Given the description of an element on the screen output the (x, y) to click on. 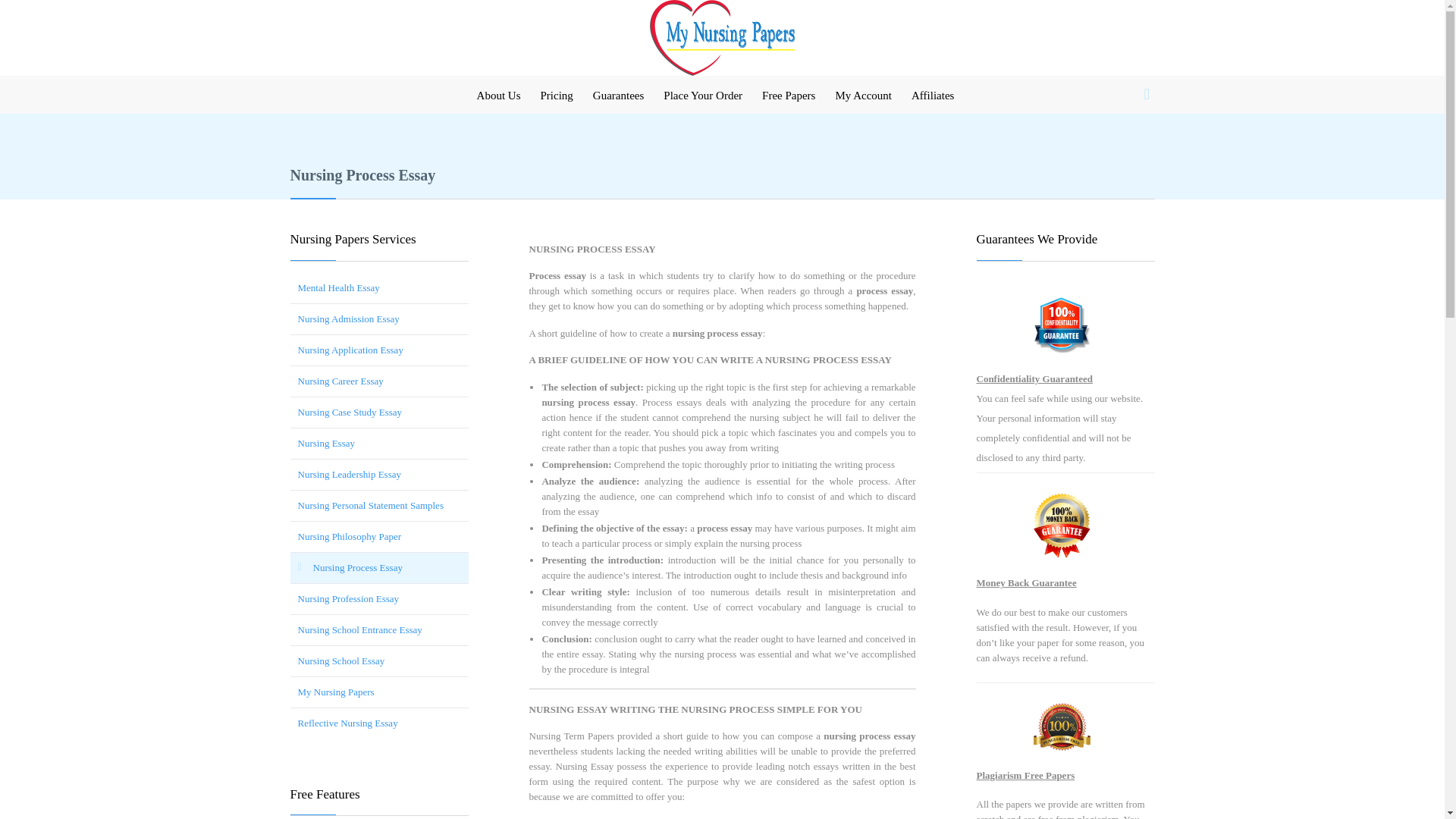
Nursing Essay (378, 442)
Nursing Admission Essay (378, 318)
My Account (863, 95)
Nursing Process Essay (378, 567)
Nursing Application Essay (378, 349)
Nursing Profession Essay (378, 598)
Affiliates (932, 95)
Place Your Order (702, 95)
My Nursing Papers (378, 691)
Nursing Personal Statement Samples (378, 504)
Nursing School Essay (378, 661)
Free Papers (788, 95)
Guarantees (618, 95)
